Given the description of an element on the screen output the (x, y) to click on. 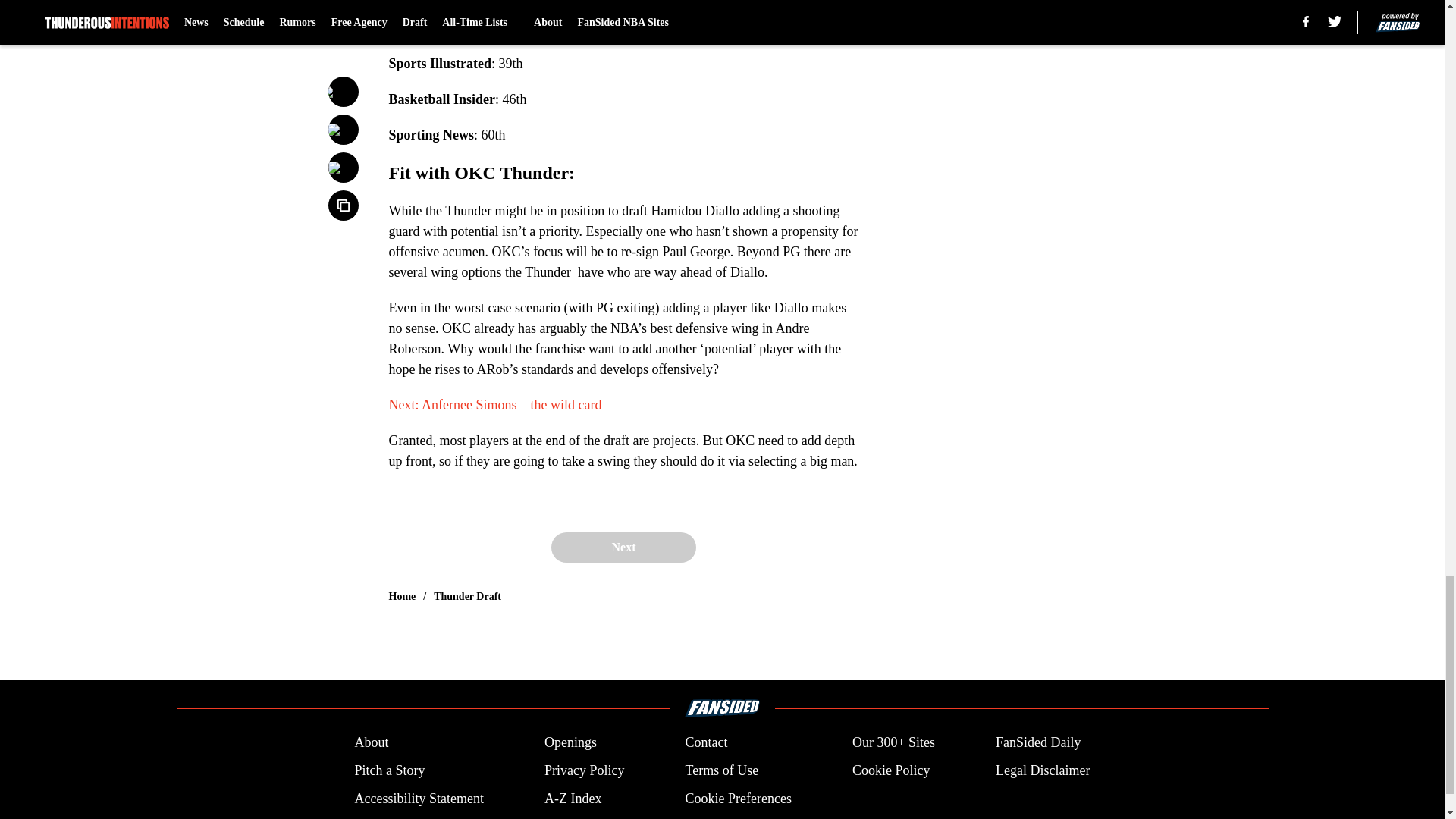
Home (401, 596)
Openings (570, 742)
About (370, 742)
Thunder Draft (466, 596)
Next (622, 547)
Contact (705, 742)
